Given the description of an element on the screen output the (x, y) to click on. 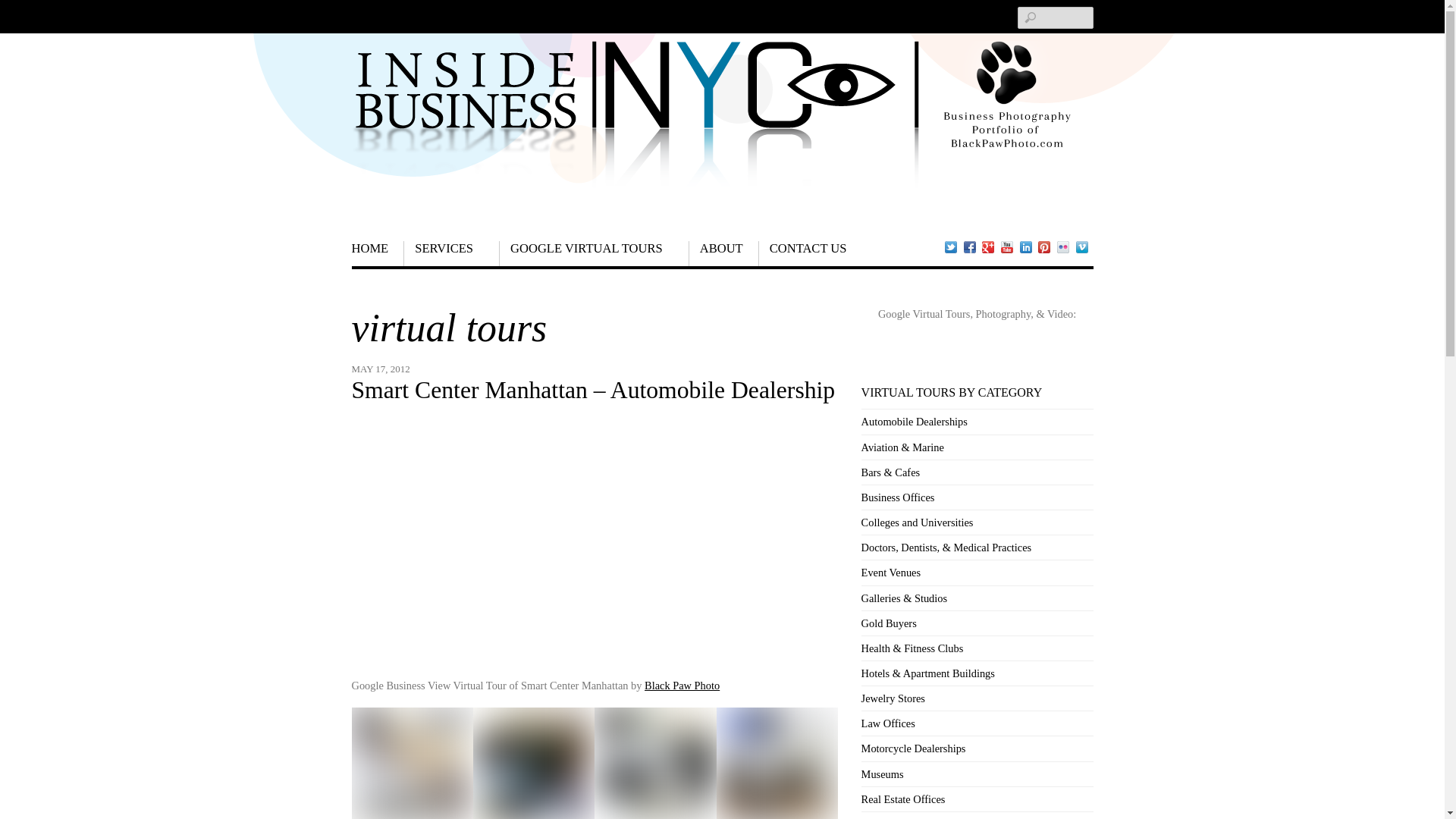
CONTACT US (809, 253)
HOME (378, 253)
ABOUT (723, 253)
Event Venues (890, 572)
Colleges and Universities (917, 522)
GOOGLE VIRTUAL TOURS (593, 253)
Black Paw Photo (682, 685)
Gold Buyers (889, 623)
Automobile Dealerships (914, 421)
Recent Work (378, 253)
